Given the description of an element on the screen output the (x, y) to click on. 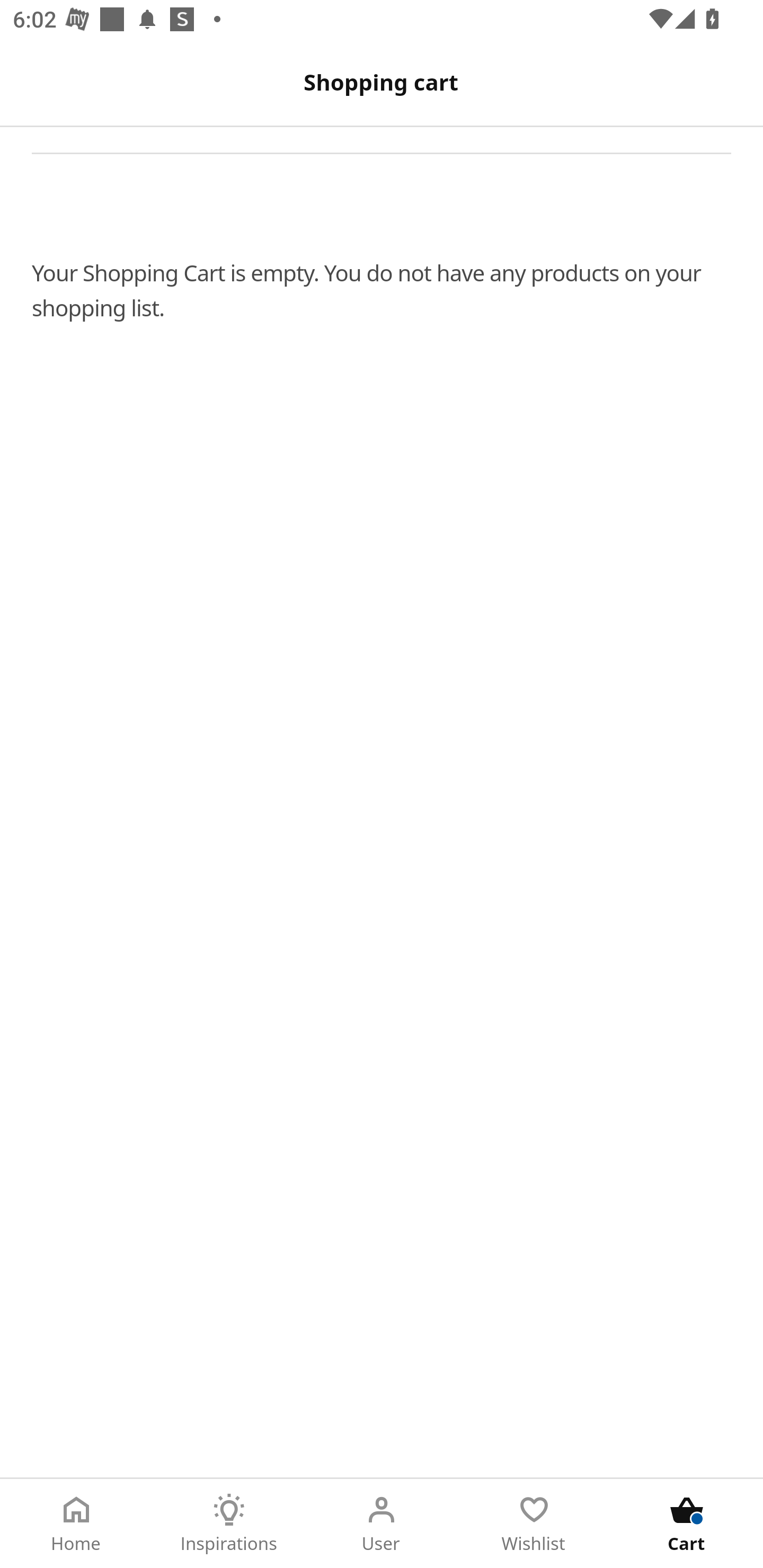
Home
Tab 1 of 5 (76, 1522)
Inspirations
Tab 2 of 5 (228, 1522)
User
Tab 3 of 5 (381, 1522)
Wishlist
Tab 4 of 5 (533, 1522)
Cart
Tab 5 of 5 (686, 1522)
